Given the description of an element on the screen output the (x, y) to click on. 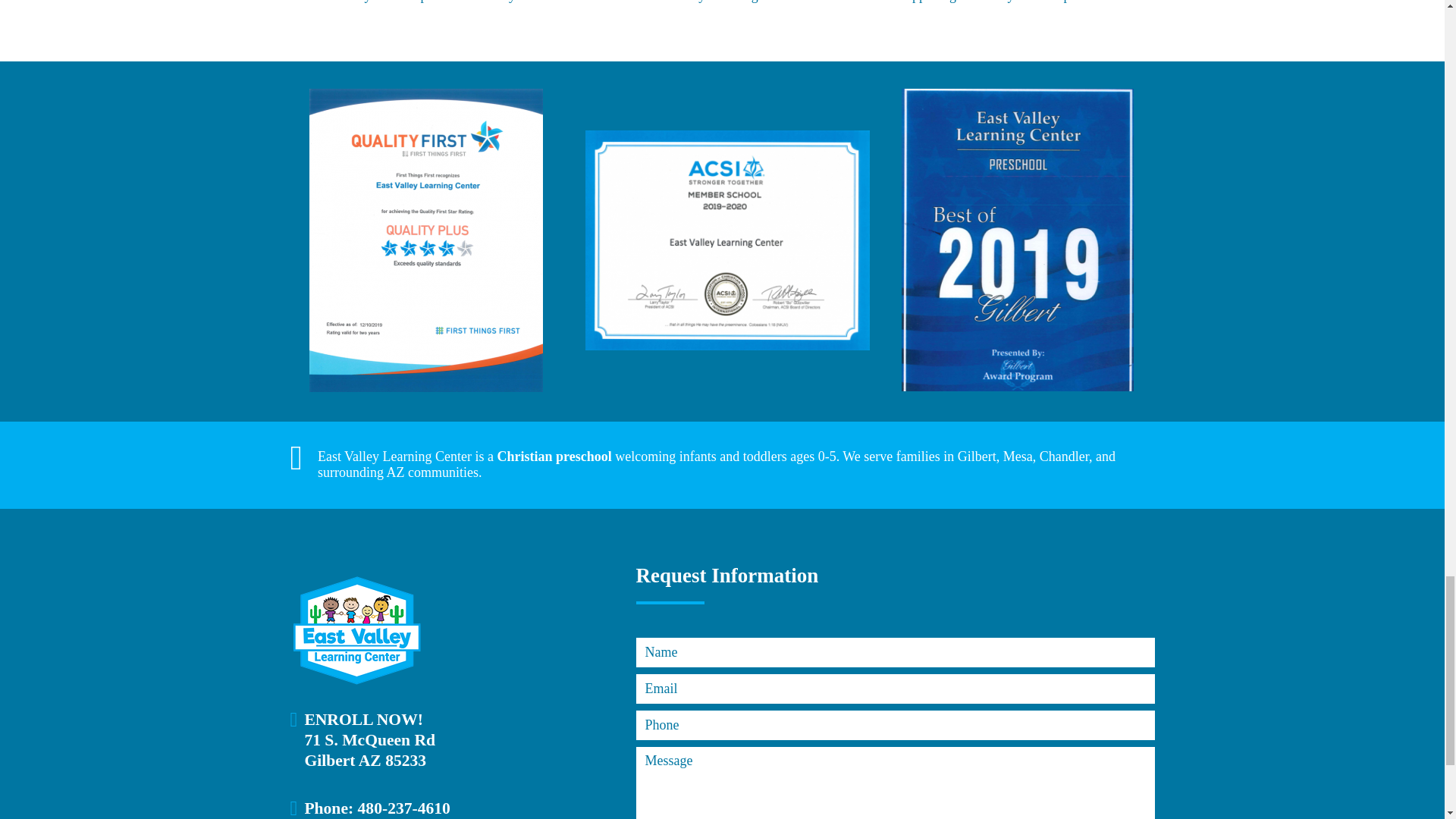
Christian preschool (554, 456)
